Given the description of an element on the screen output the (x, y) to click on. 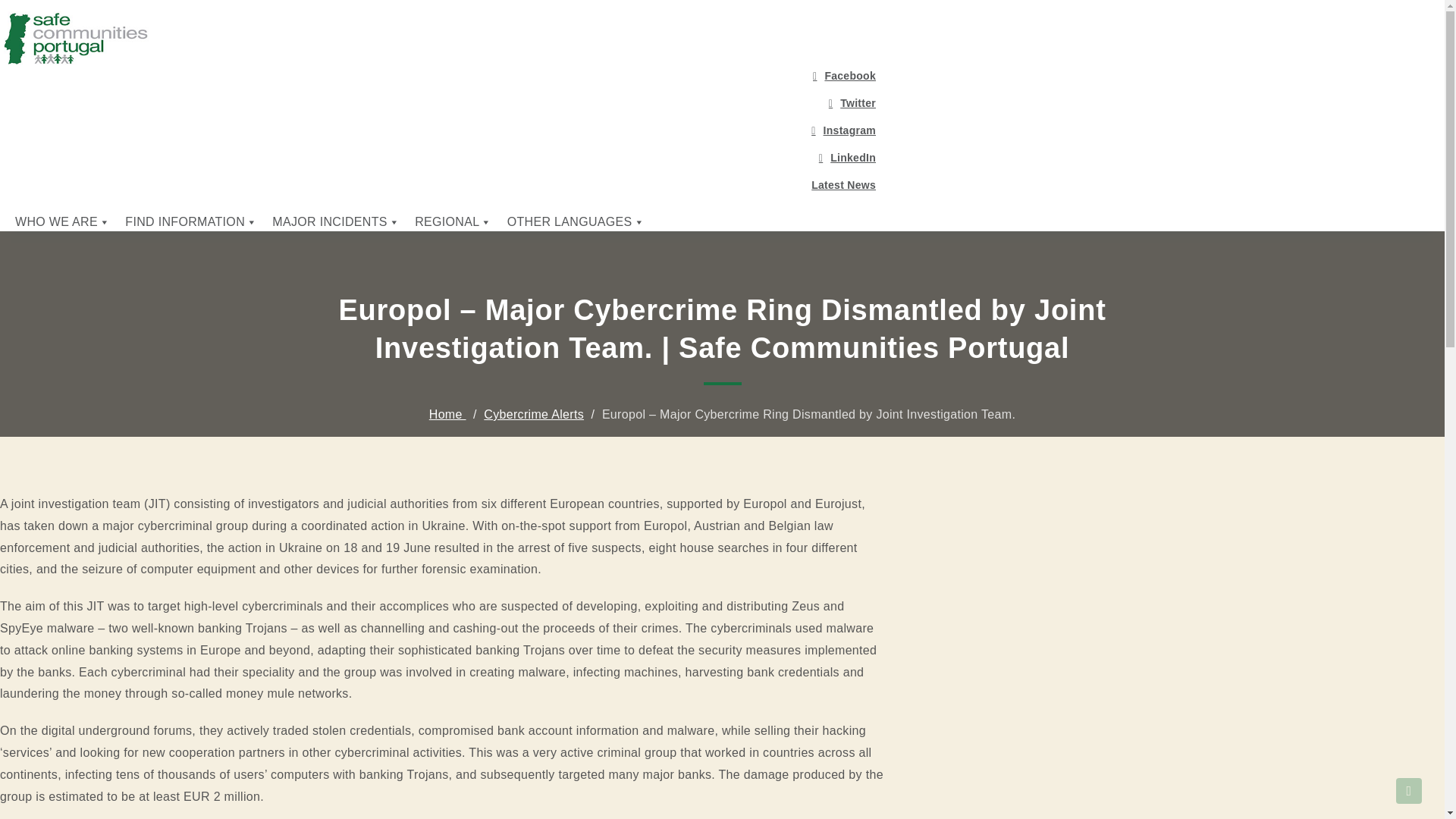
Latest News (445, 185)
WHO WE ARE (62, 222)
FIND INFORMATION (191, 222)
Facebook (445, 75)
Twitter (445, 103)
Go to Cybercrime Alerts. (533, 413)
Go to  Safe Communities Portugal. (447, 413)
LinkedIn (445, 157)
Instagram (445, 130)
